Given the description of an element on the screen output the (x, y) to click on. 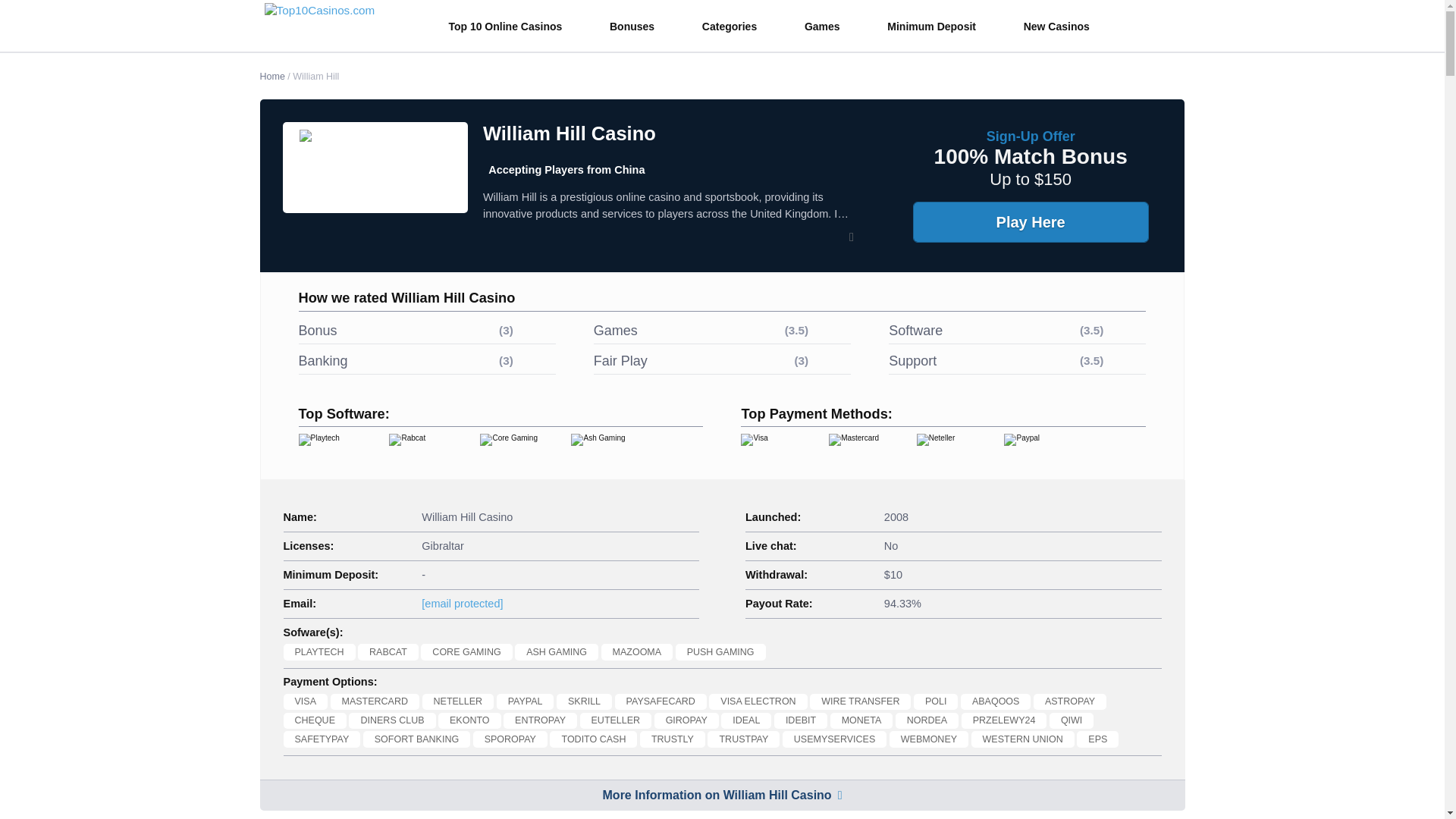
Paypal (1034, 449)
Neteller (946, 449)
Mastercard (858, 449)
Core Gaming (515, 449)
Bonuses (640, 26)
Top 10 Online Casinos (514, 26)
Rabcat (424, 449)
Ash Gaming (606, 449)
Visa (771, 449)
Playtech (333, 449)
